Given the description of an element on the screen output the (x, y) to click on. 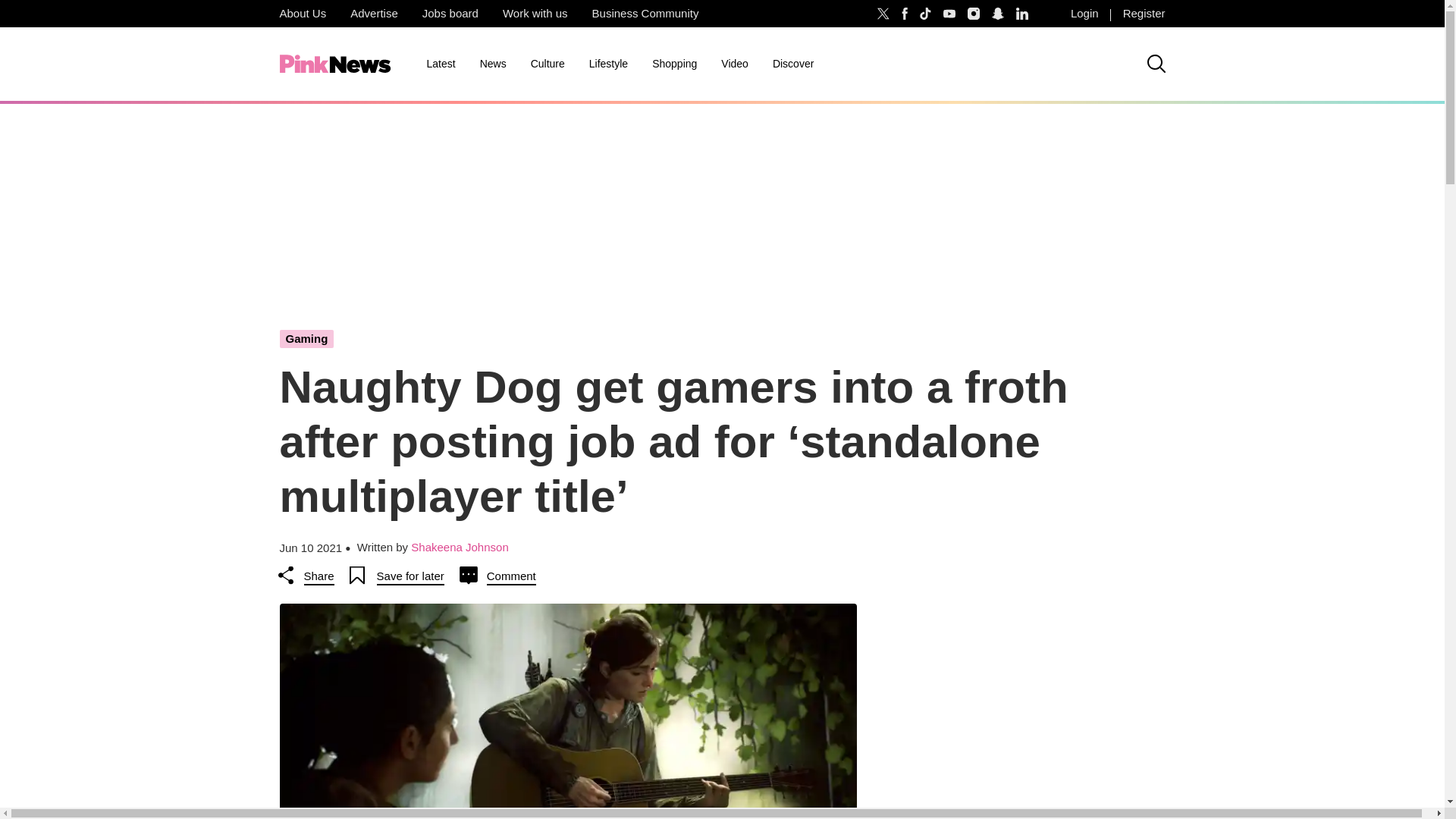
Culture (547, 63)
Lifestyle (608, 63)
Register (1143, 13)
Login (1084, 13)
Advertise (373, 13)
News (493, 63)
About Us (301, 13)
Latest (440, 63)
Work with us (534, 13)
Jobs board (450, 13)
Follow PinkNews on LinkedIn (1021, 13)
Business Community (645, 13)
